Given the description of an element on the screen output the (x, y) to click on. 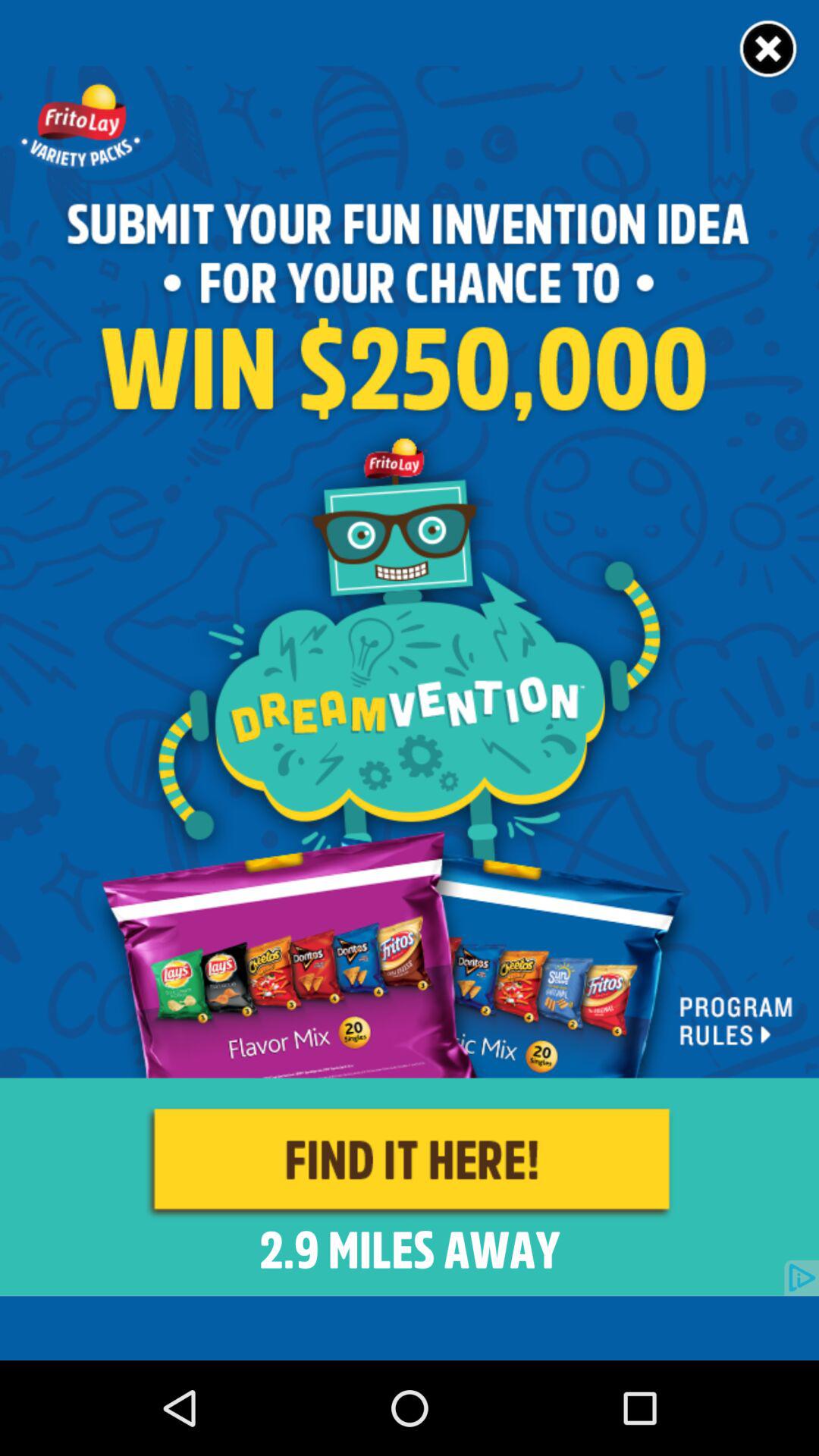
close page (769, 49)
